Given the description of an element on the screen output the (x, y) to click on. 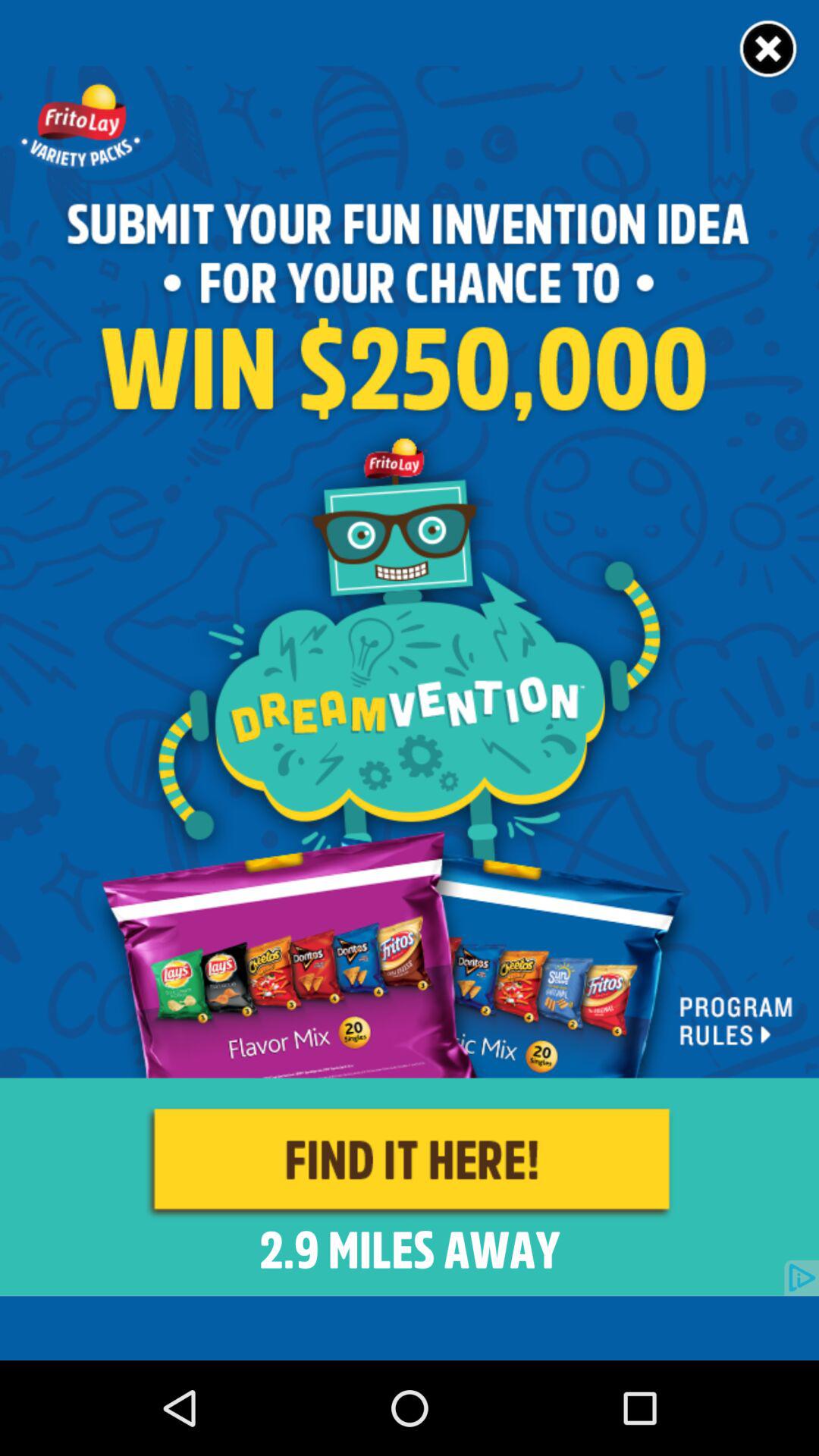
close page (769, 49)
